Given the description of an element on the screen output the (x, y) to click on. 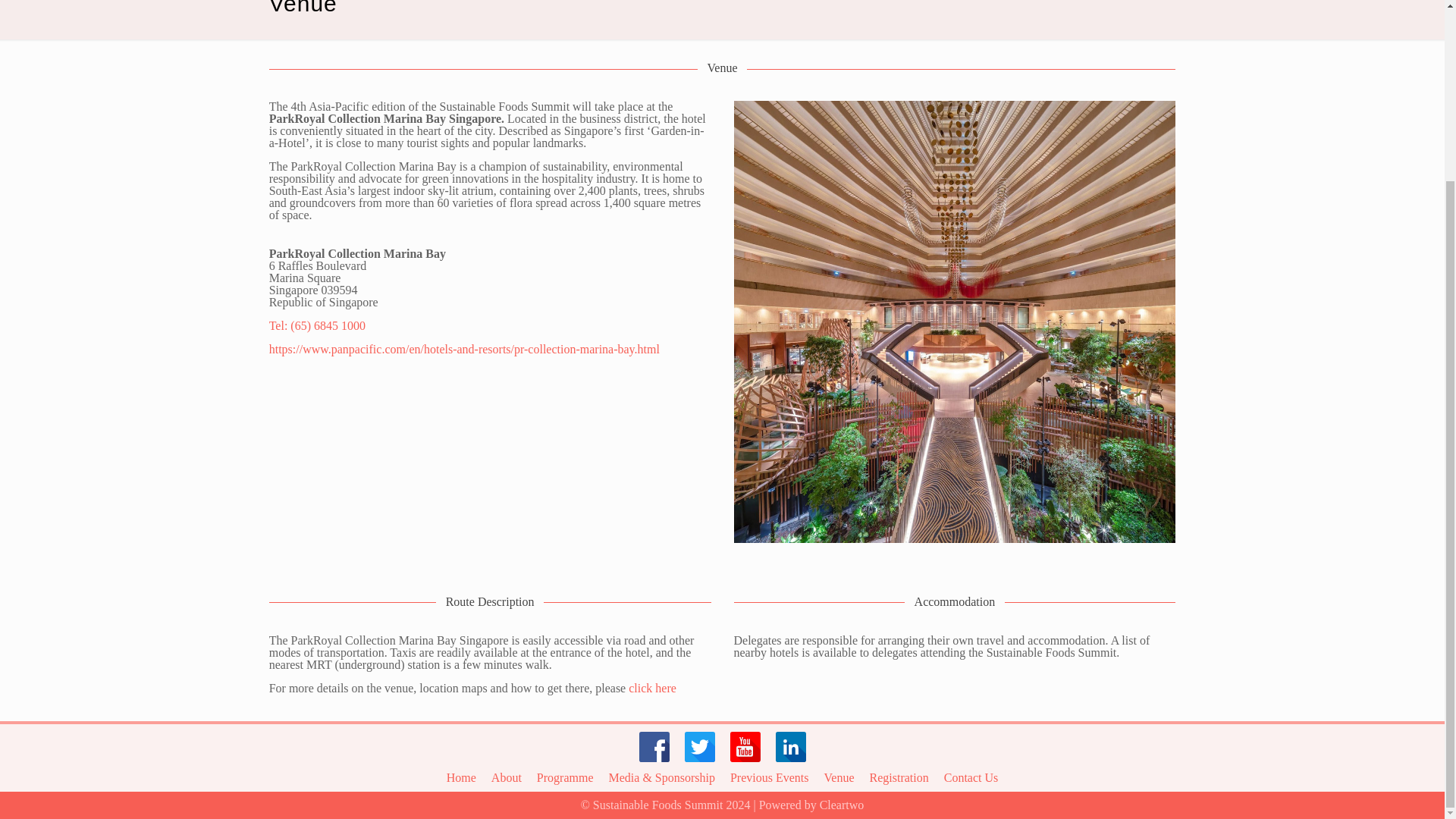
Programme (565, 777)
About (506, 777)
click here (652, 687)
Contact Us (970, 777)
Venue (838, 777)
Registration (898, 777)
Twitter (699, 748)
Home (461, 777)
Facebook (653, 748)
Previous Events (769, 777)
YouTube (744, 748)
LinkedIn (789, 748)
Cleartwo (841, 804)
